Given the description of an element on the screen output the (x, y) to click on. 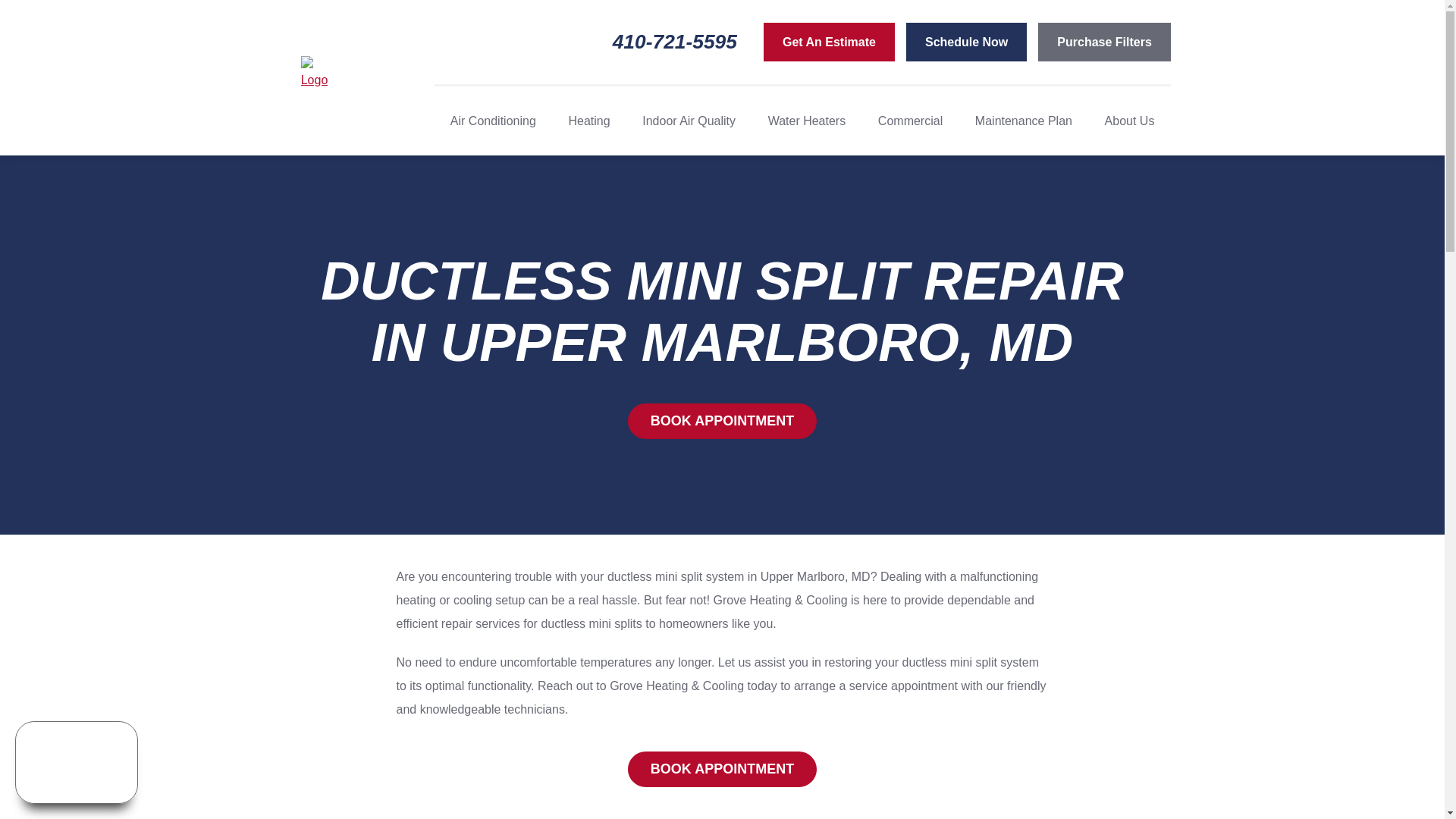
Water Heaters (807, 120)
Commercial (909, 120)
Indoor Air Quality (688, 120)
Heating (588, 120)
Get An Estimate (828, 41)
Maintenance Plan (1023, 120)
410-721-5595 (687, 42)
Air Conditioning (493, 120)
About Us (1129, 120)
Purchase Filters (1104, 41)
